Given the description of an element on the screen output the (x, y) to click on. 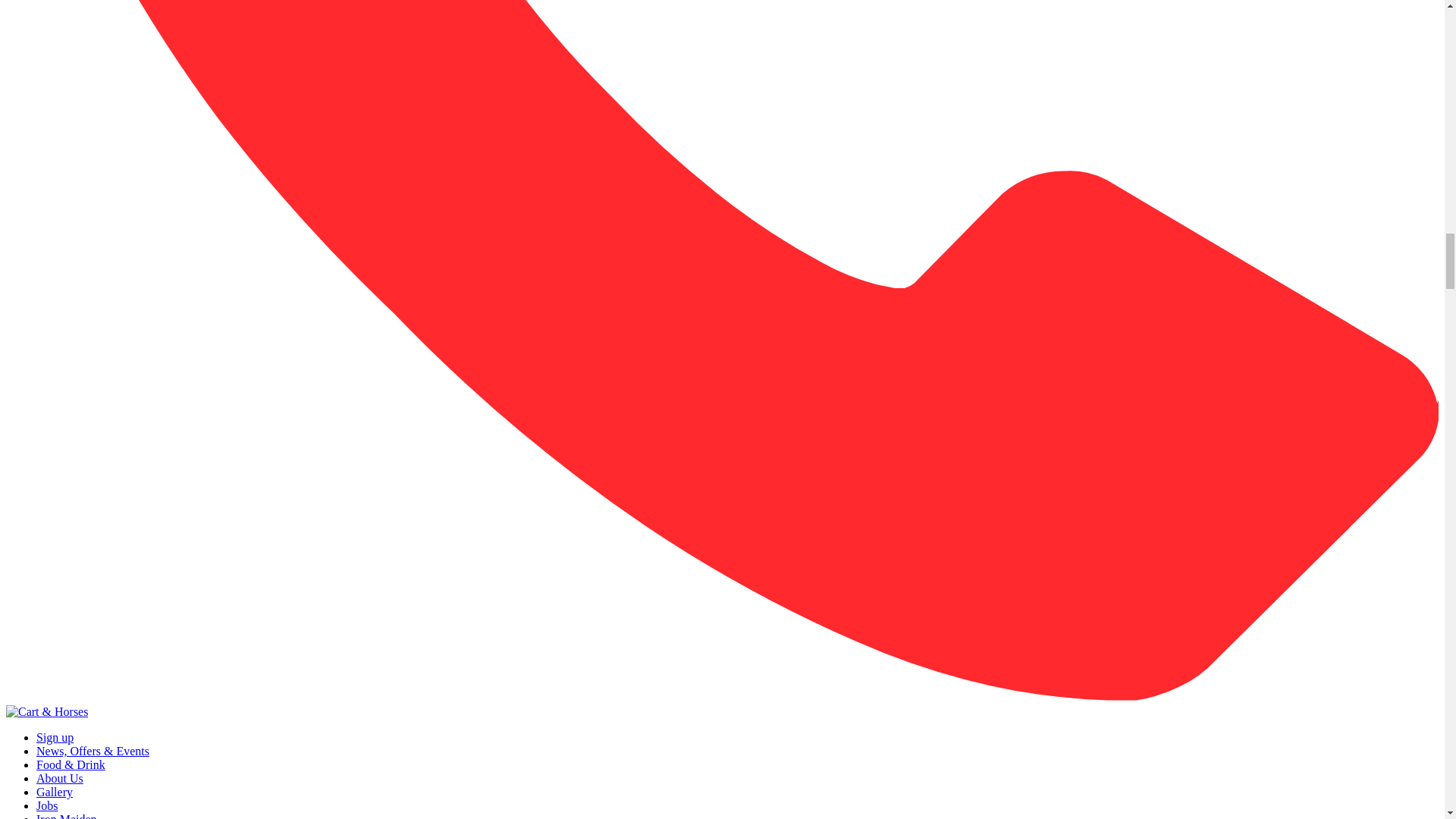
About Us (59, 778)
Gallery (54, 791)
Iron Maiden (66, 816)
Jobs (47, 805)
Sign up (55, 737)
